Given the description of an element on the screen output the (x, y) to click on. 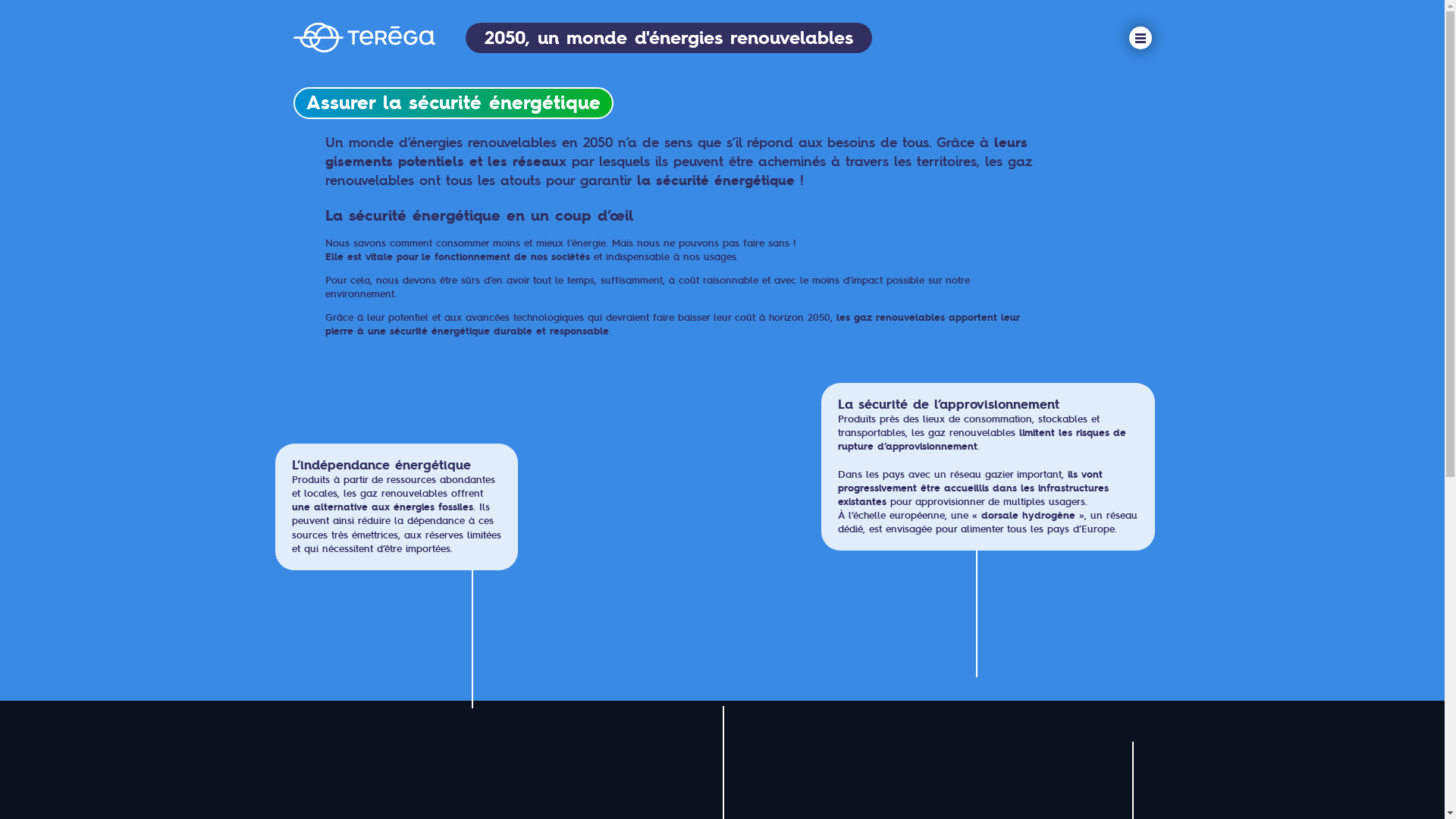
menu Element type: text (1139, 37)
